Given the description of an element on the screen output the (x, y) to click on. 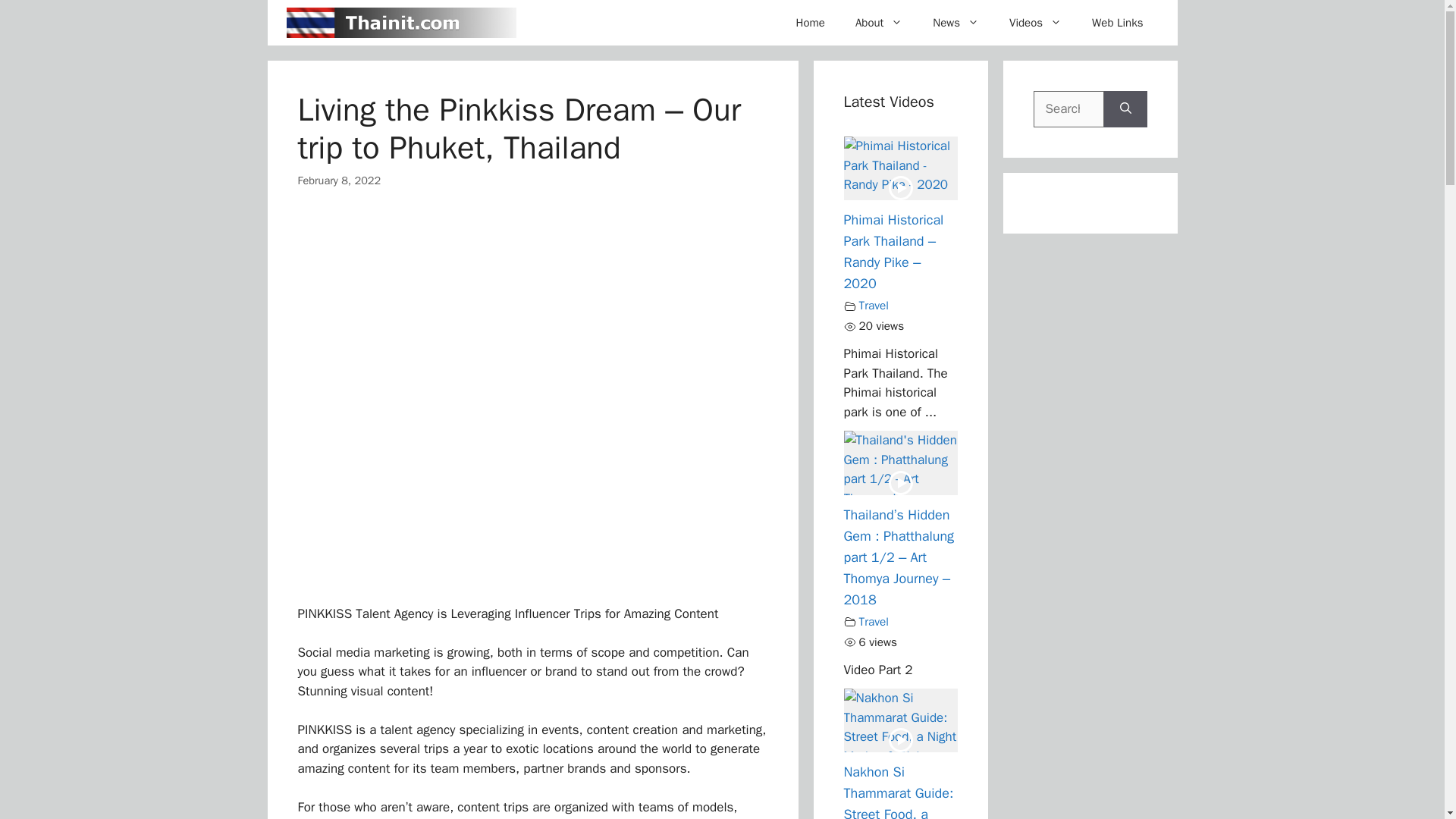
Home (810, 22)
About (878, 22)
Travel (873, 305)
Videos (1035, 22)
News (955, 22)
Thainit.com (401, 22)
Travel (873, 621)
Web Links (1117, 22)
Search for: (1067, 108)
